Given the description of an element on the screen output the (x, y) to click on. 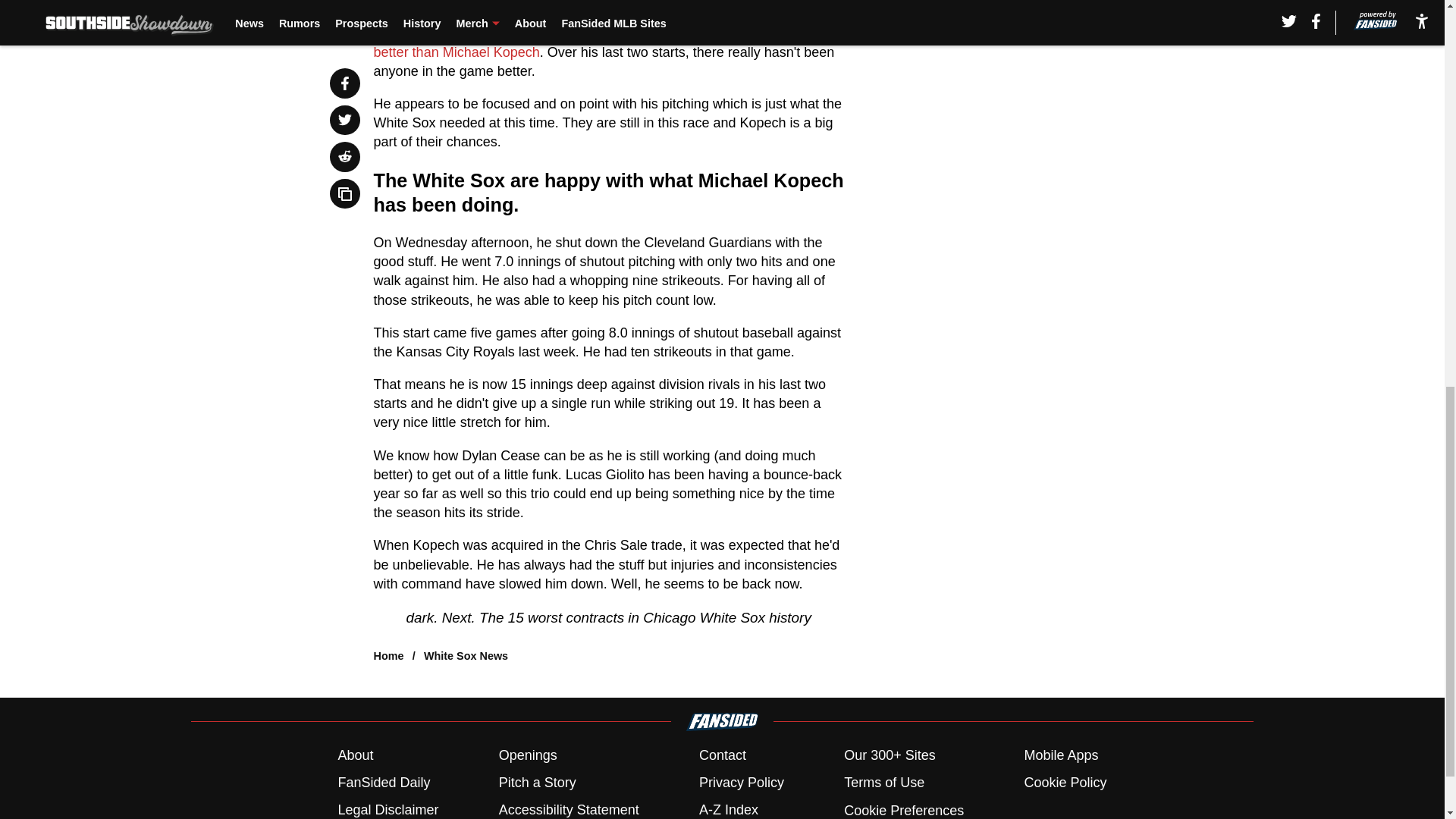
White Sox News (465, 655)
Contact (721, 754)
About (354, 754)
nobody has been better than Michael Kopech (591, 42)
Openings (528, 754)
Home (389, 655)
